Given the description of an element on the screen output the (x, y) to click on. 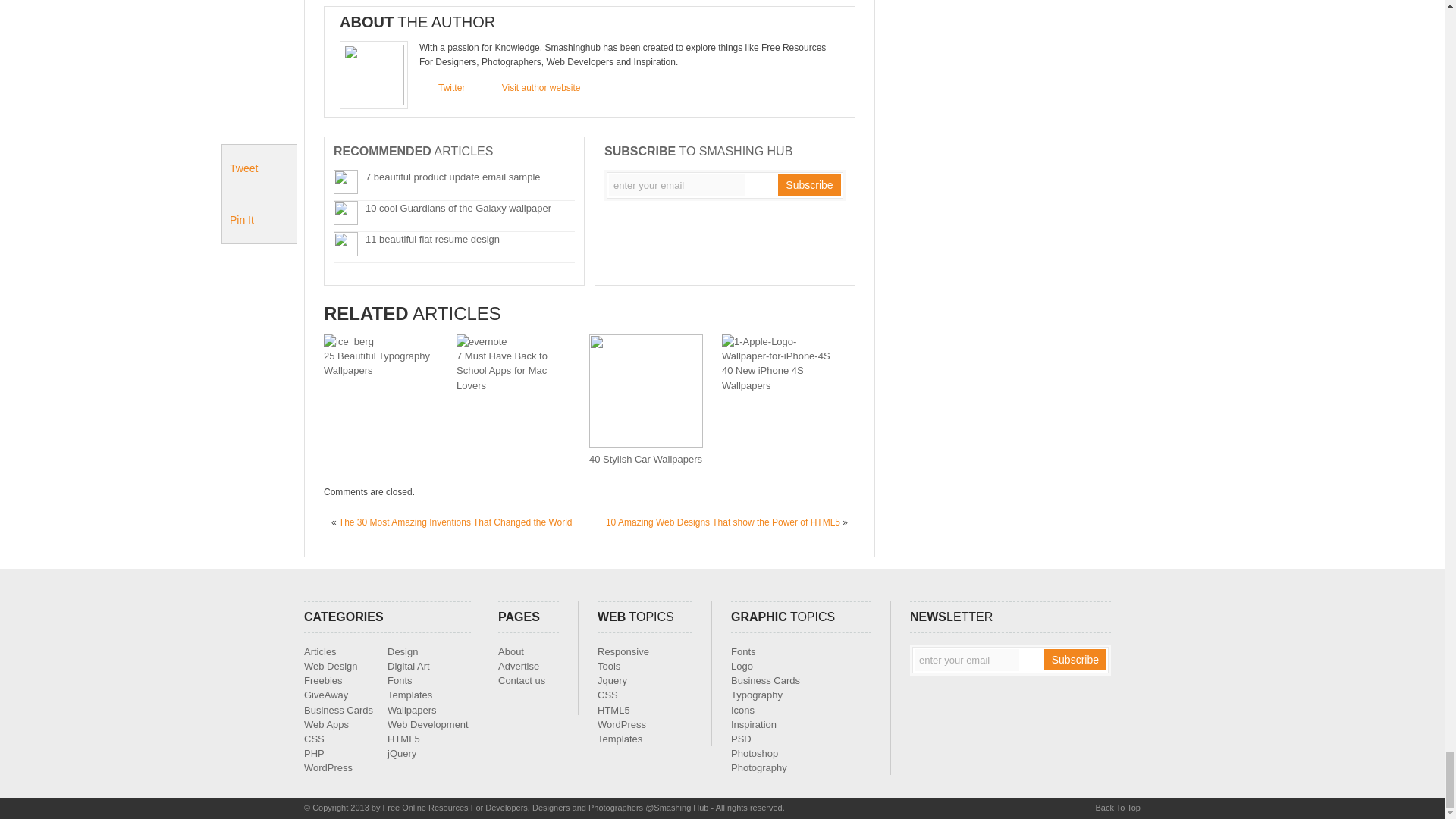
Subscribe (808, 184)
40 Stylish Car Wallpapers (646, 444)
25 Beautiful Typography Wallpapers (376, 362)
Enter your email (676, 185)
10 cool Guardians of the Galaxy wallpaper (458, 207)
7 beautiful product update email sample (452, 176)
Subscribe (1074, 659)
25 Beautiful Typography Wallpapers (348, 341)
7 Must Have Back to School Apps for Mac Lovers (481, 341)
Enter your email (966, 659)
40 New iPhone 4S Wallpapers (762, 377)
40 Stylish Car Wallpapers (645, 459)
40 New iPhone 4S Wallpapers (778, 355)
7 Must Have Back to School Apps for Mac Lovers (502, 370)
11 beautiful flat resume design (432, 238)
